Given the description of an element on the screen output the (x, y) to click on. 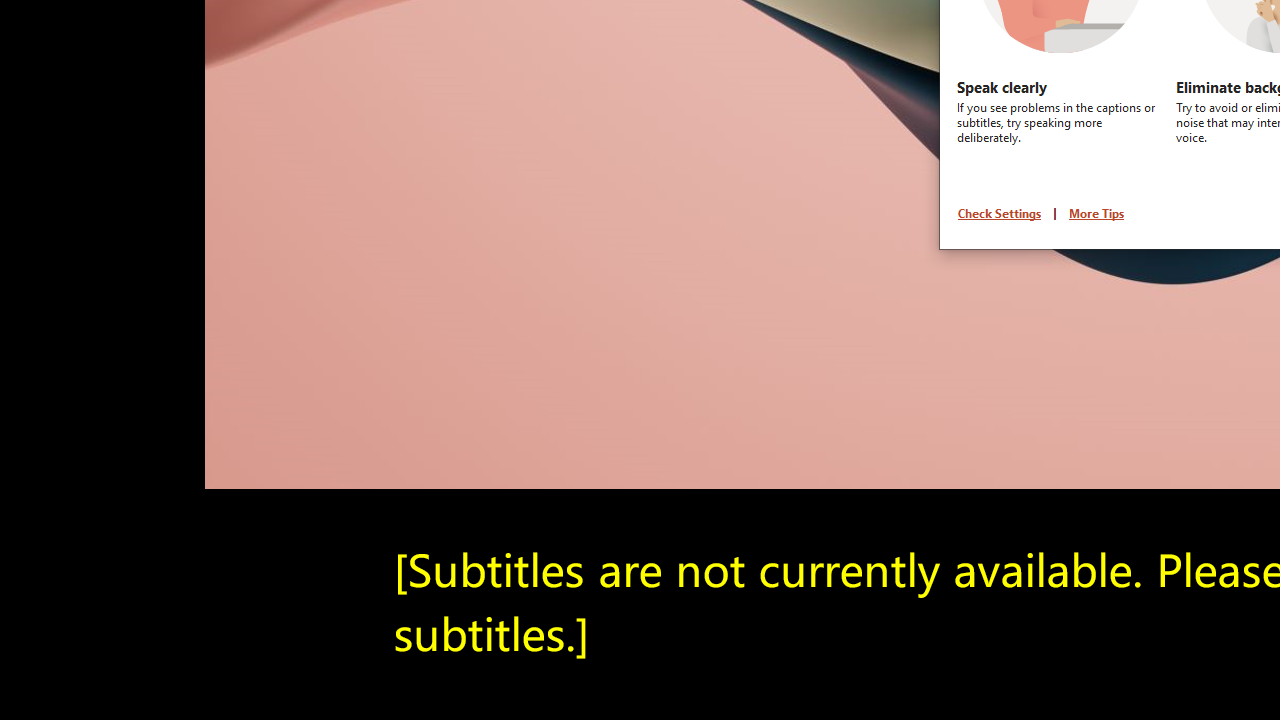
Check Settings (999, 213)
More Tips (1096, 213)
